Given the description of an element on the screen output the (x, y) to click on. 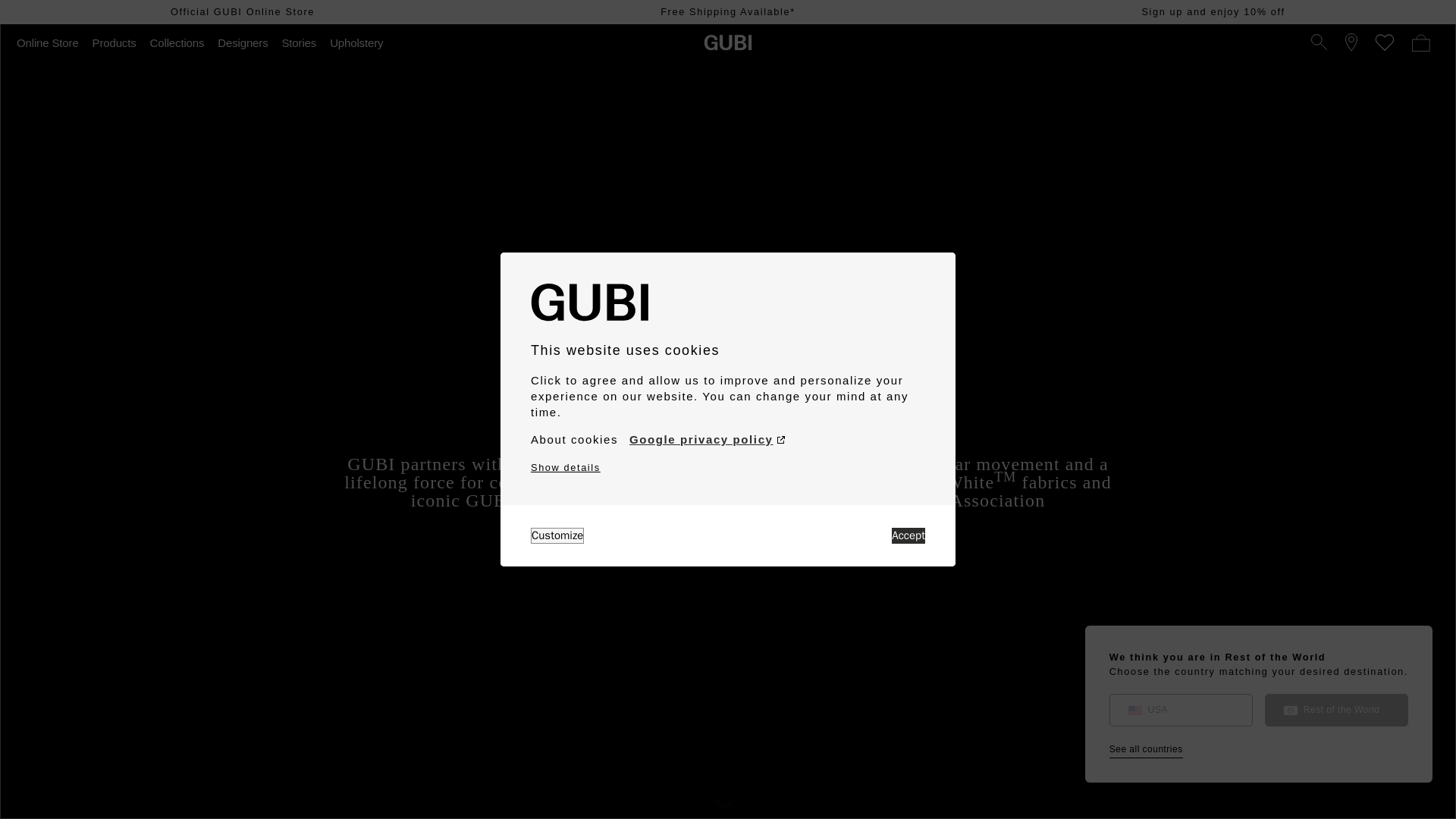
Show details (565, 467)
Google privacy policy (707, 439)
About cookies (574, 439)
